Given the description of an element on the screen output the (x, y) to click on. 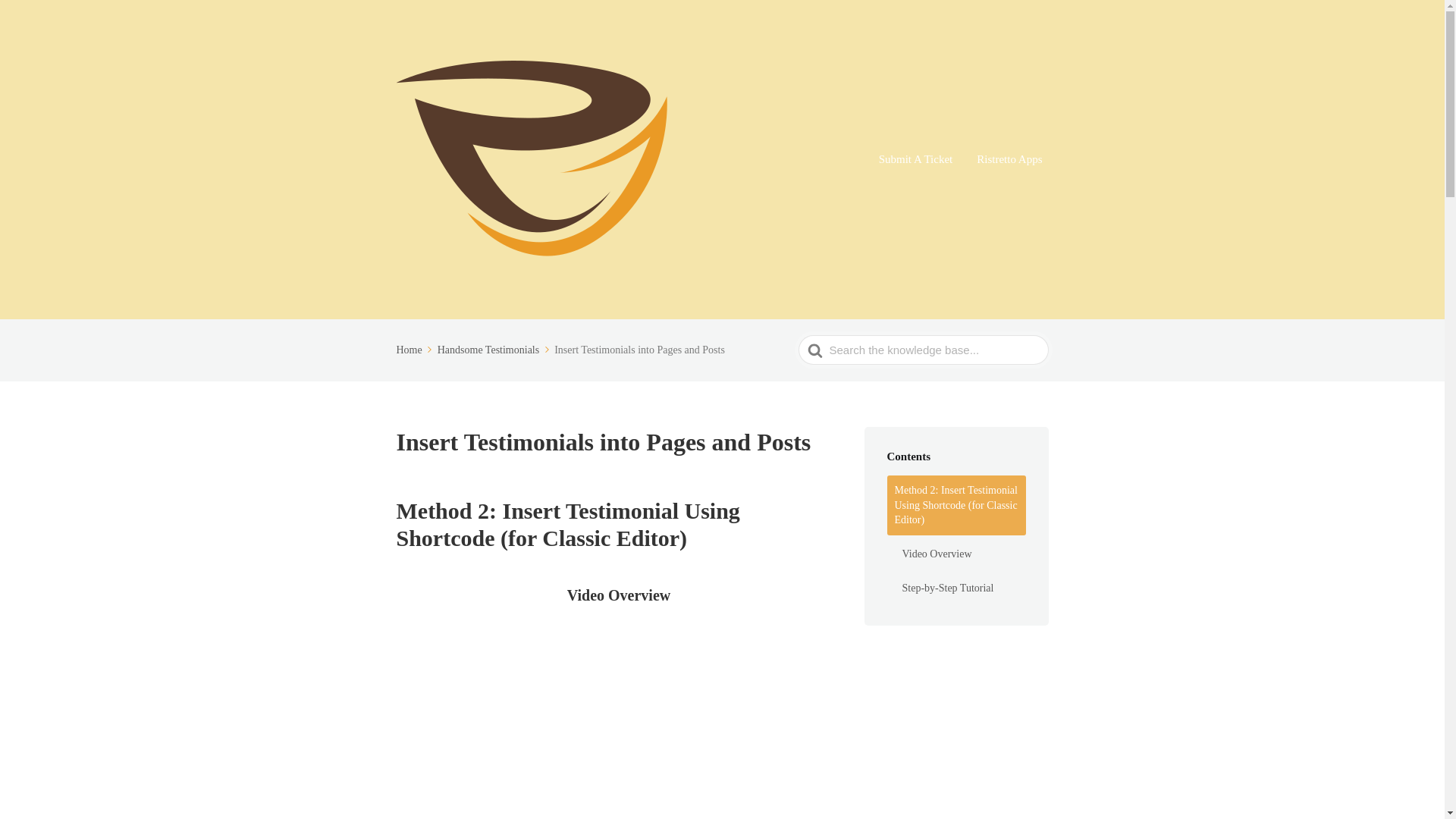
Ristretto Apps (1009, 159)
Video Overview (960, 553)
Step-by-Step Tutorial (960, 588)
Create and Insert Testimonials in WordPress (618, 720)
Handsome Testimonials (494, 349)
Submit A Ticket (915, 159)
Home (414, 349)
